Given the description of an element on the screen output the (x, y) to click on. 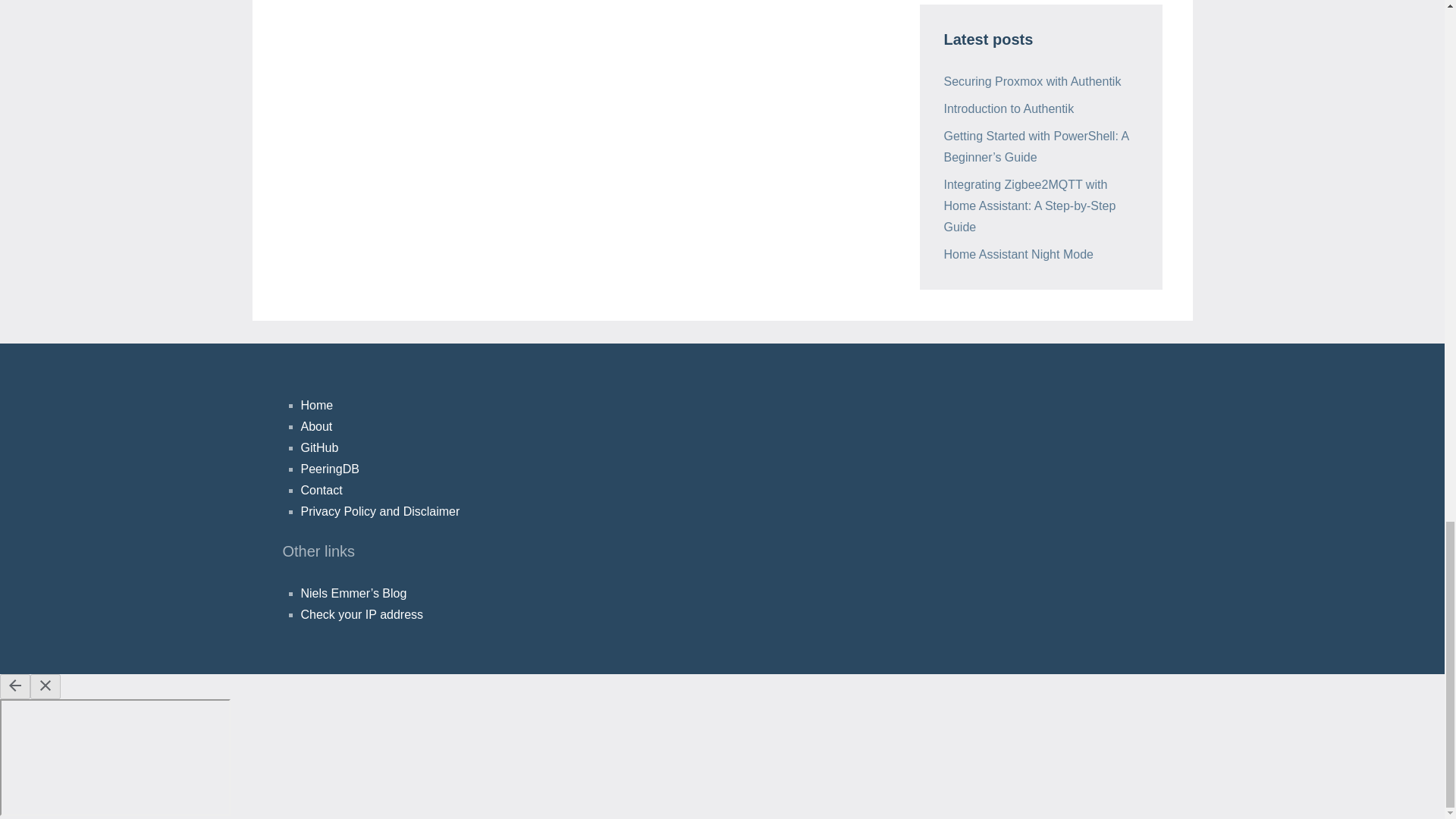
Introduction to Authentik (1008, 108)
Securing Proxmox with Authentik (1032, 81)
